Given the description of an element on the screen output the (x, y) to click on. 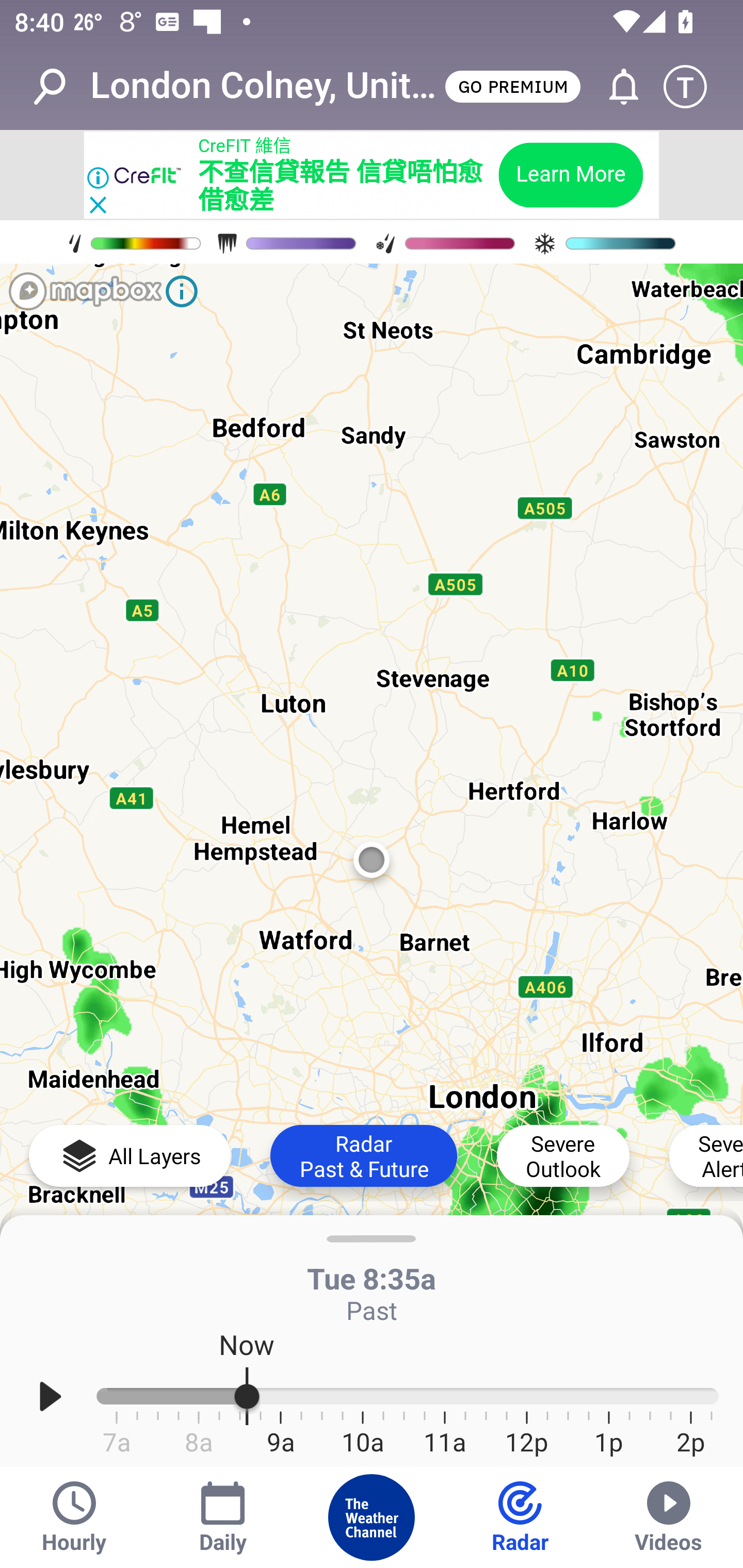
Search (59, 86)
Go to Alerts and Notifications (614, 86)
Setting icon T (694, 86)
London Colney, United Kingdom (265, 85)
GO PREMIUM (512, 85)
All Layers (129, 1155)
Radar
Past & Future Radar Past & Future (363, 1155)
Severe
Outlook Severe Outlook (563, 1155)
Play (50, 1396)
Hourly Tab Hourly (74, 1517)
Daily Tab Daily (222, 1517)
Home Tab (371, 1517)
Videos Tab Videos (668, 1517)
